Given the description of an element on the screen output the (x, y) to click on. 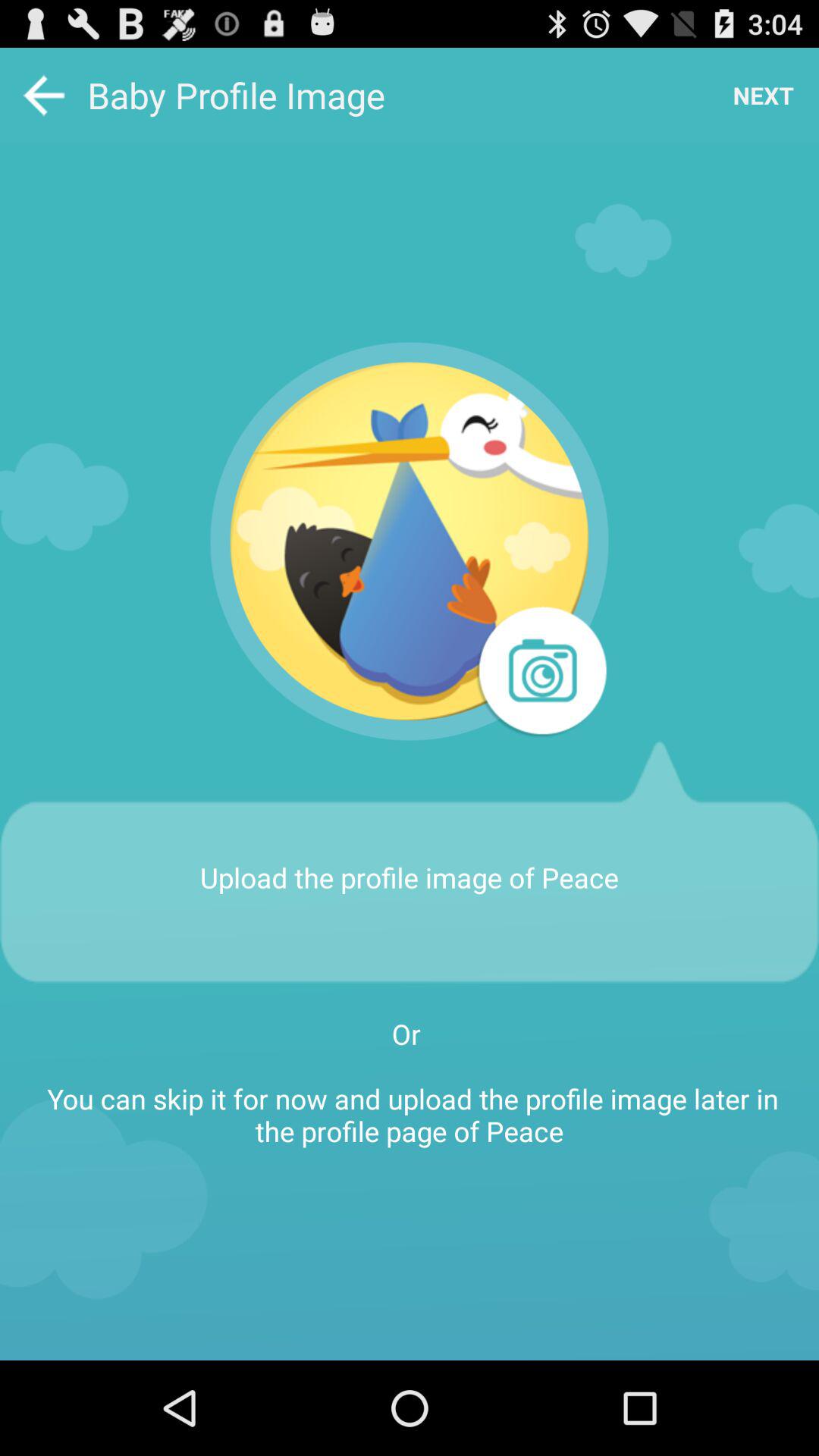
add profile picture (540, 672)
